Given the description of an element on the screen output the (x, y) to click on. 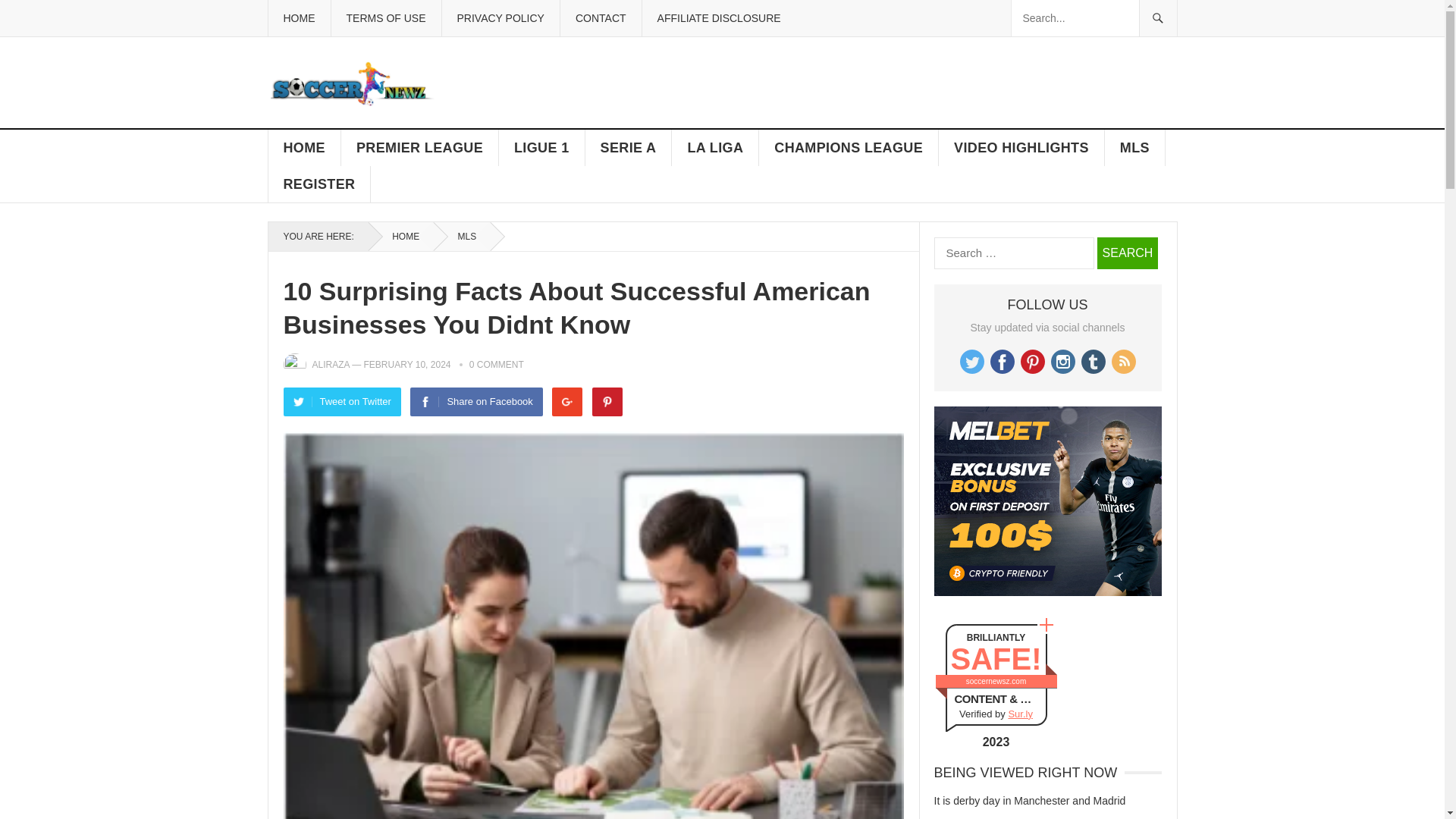
MLS (461, 235)
CONTACT (600, 18)
Search (1127, 253)
Pinterest (607, 401)
REGISTER (319, 184)
ALIRAZA (331, 364)
0 COMMENT (496, 364)
HOME (400, 235)
MLS (1135, 147)
LA LIGA (714, 147)
Share on Facebook (475, 401)
PREMIER LEAGUE (419, 147)
View all posts in MLS (461, 235)
VIDEO HIGHLIGHTS (1022, 147)
PRIVACY POLICY (500, 18)
